Given the description of an element on the screen output the (x, y) to click on. 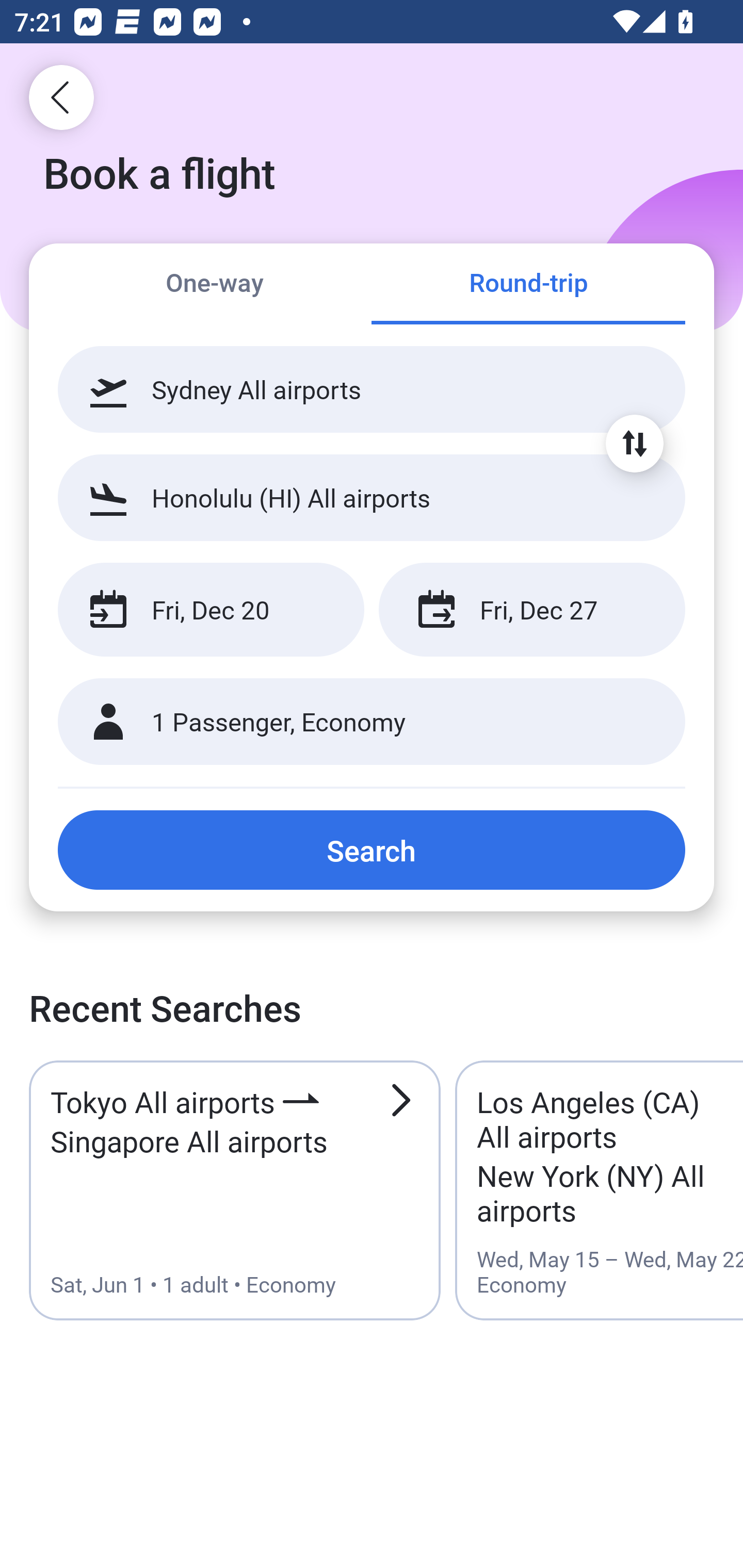
One-way (214, 284)
Sydney All airports (371, 389)
Honolulu (HI) All airports (371, 497)
Fri, Dec 20 (210, 609)
Fri, Dec 27 (531, 609)
1 Passenger, Economy (371, 721)
Search (371, 849)
